Given the description of an element on the screen output the (x, y) to click on. 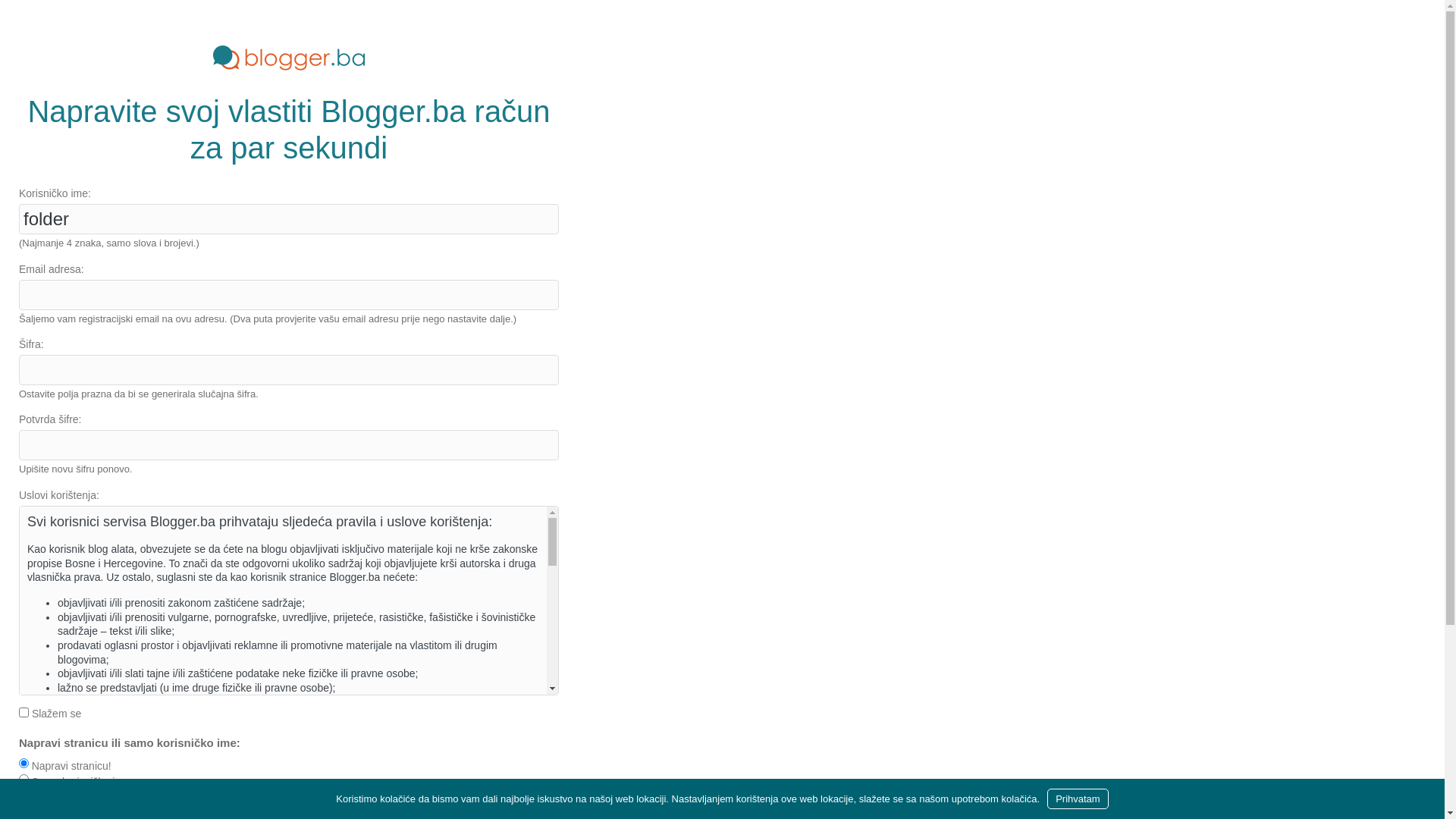
Prihvatam Element type: text (1077, 798)
